Given the description of an element on the screen output the (x, y) to click on. 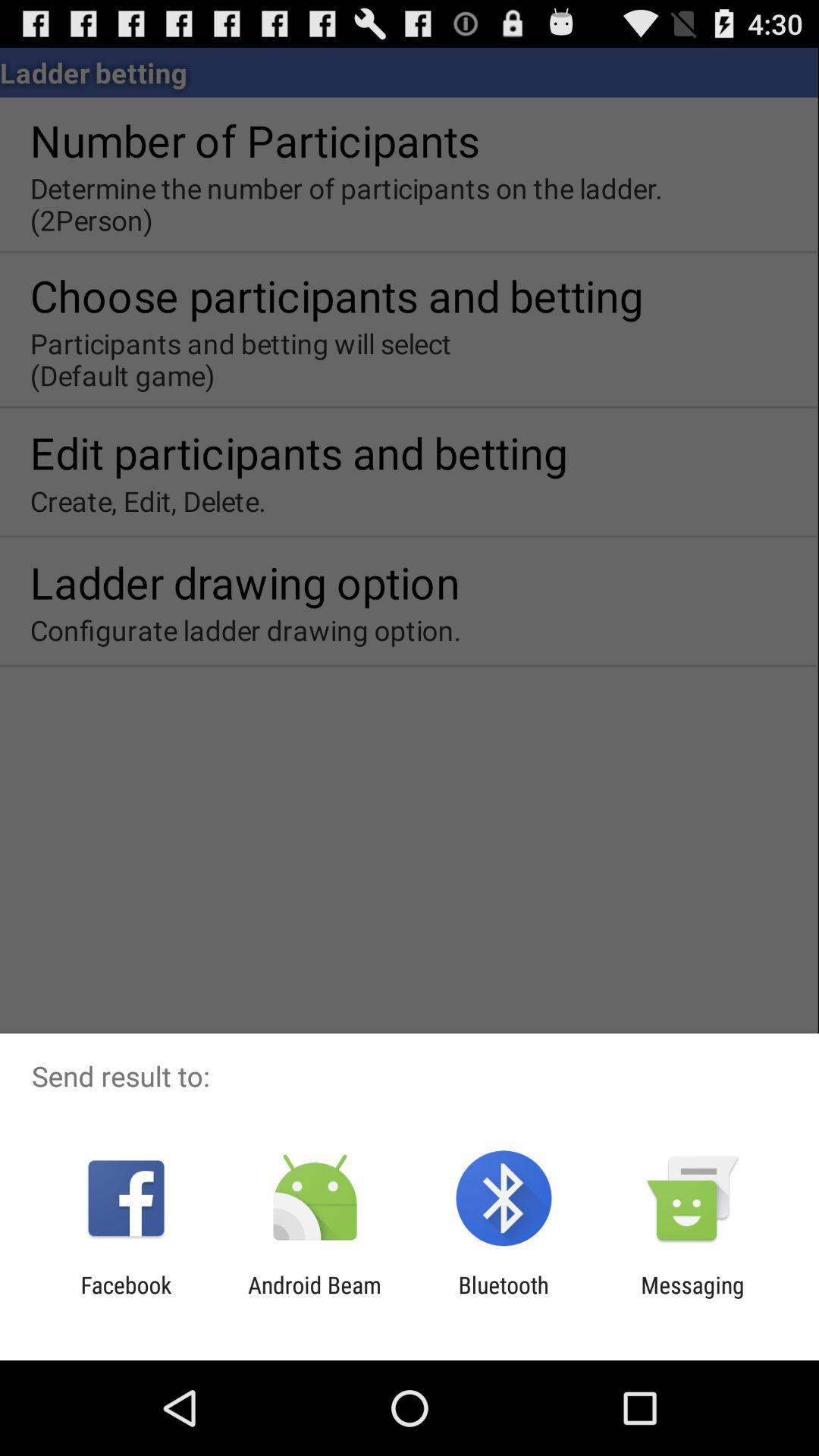
flip until facebook item (125, 1298)
